Given the description of an element on the screen output the (x, y) to click on. 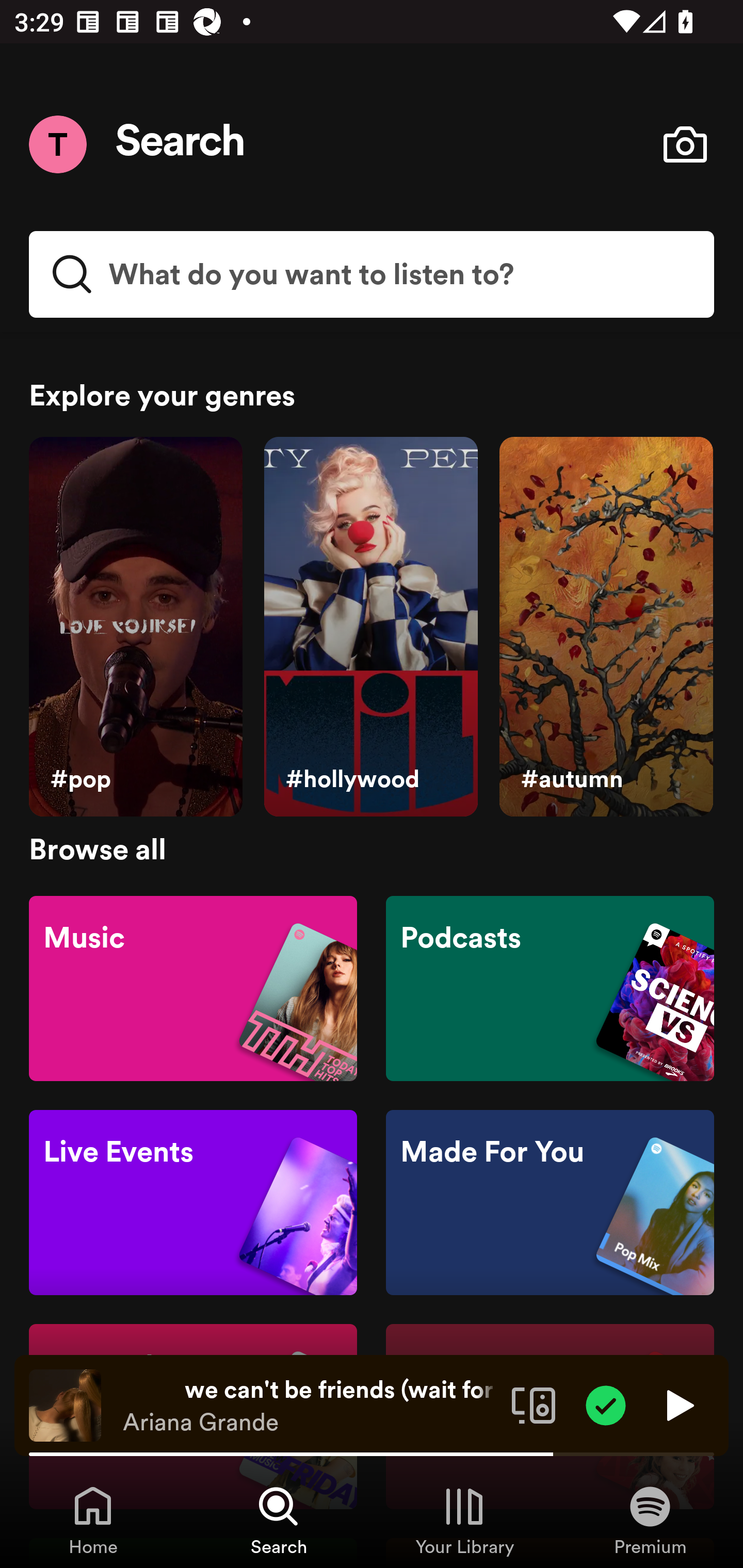
Menu (57, 144)
Open camera (685, 145)
Search (180, 144)
#pop (135, 626)
#hollywood (370, 626)
#autumn (606, 626)
Music (192, 987)
Podcasts (549, 987)
Live Events (192, 1202)
Made For You (549, 1202)
The cover art of the currently playing track (64, 1404)
Connect to a device. Opens the devices menu (533, 1404)
Item added (605, 1404)
Play (677, 1404)
Home, Tab 1 of 4 Home Home (92, 1519)
Search, Tab 2 of 4 Search Search (278, 1519)
Your Library, Tab 3 of 4 Your Library Your Library (464, 1519)
